Given the description of an element on the screen output the (x, y) to click on. 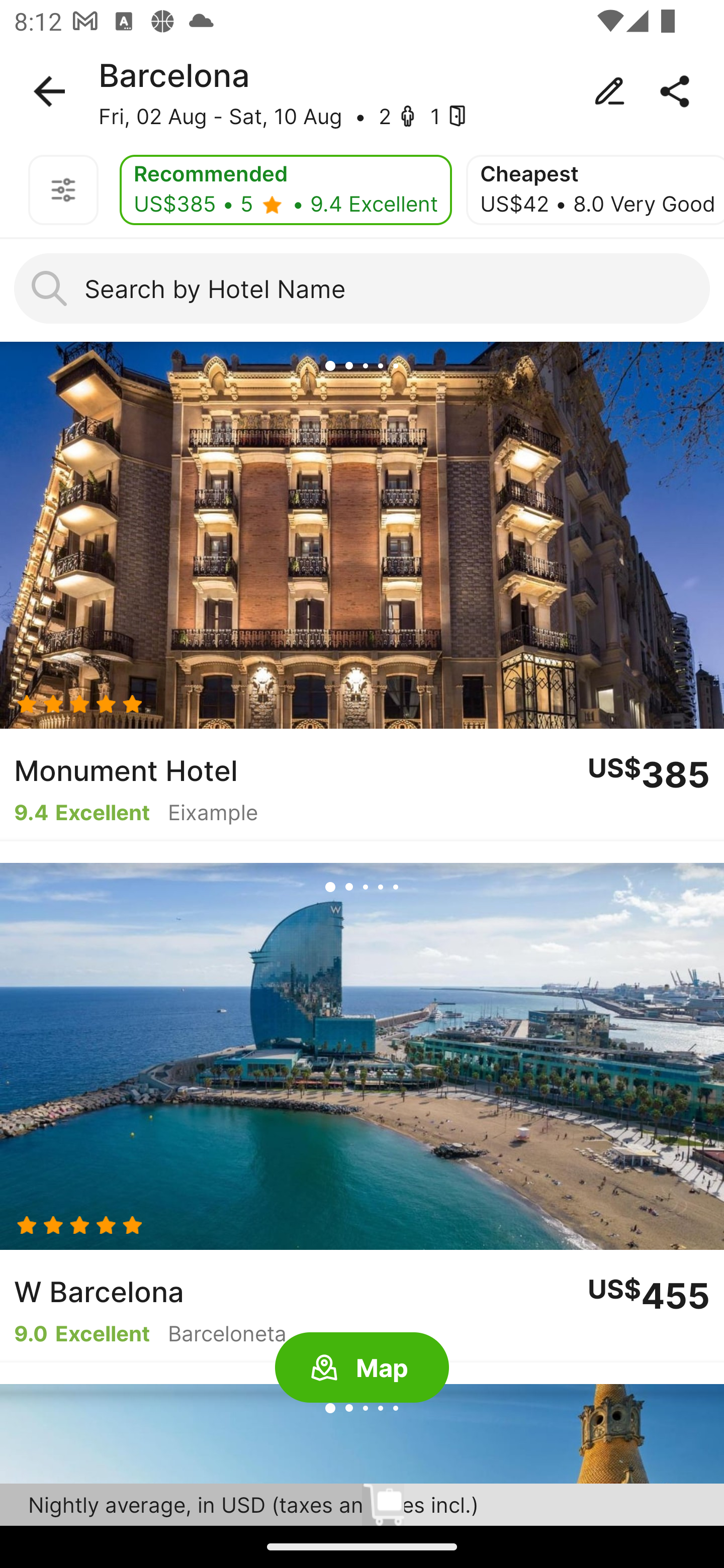
Barcelona Fri, 02 Aug - Sat, 10 Aug  •  2 -  1 - (361, 91)
Recommended  US$385  • 5 - • 9.4 Excellent (285, 190)
Cheapest US$42  • 8.0 Very Good (595, 190)
Search by Hotel Name  (361, 288)
10.0 Monument Hotel 9.4 Excellent Eixample (362, 590)
10.0 W Barcelona 9.0 Excellent Barceloneta (362, 1112)
Map  (361, 1367)
